Given the description of an element on the screen output the (x, y) to click on. 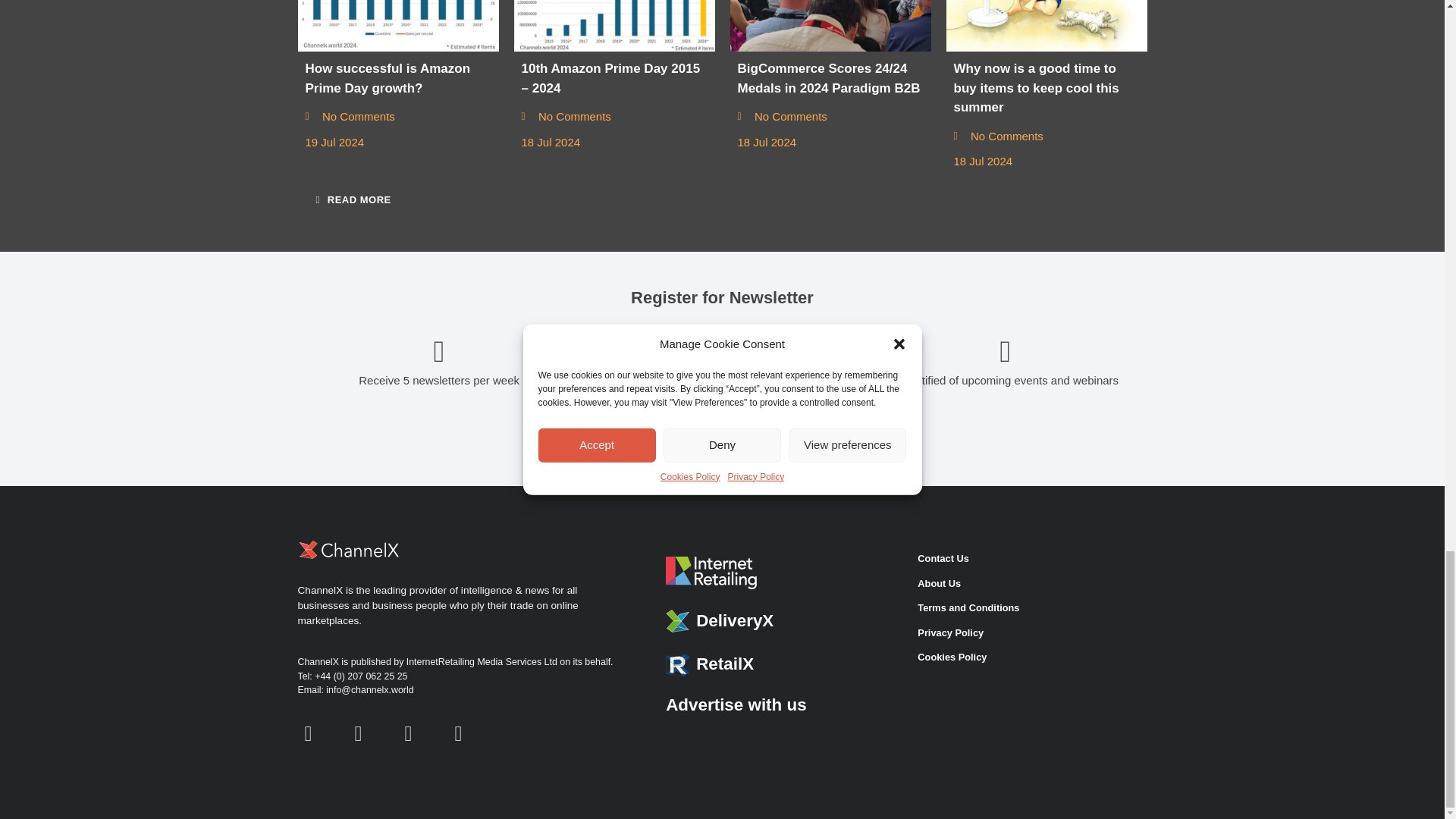
BigCommerce Scores 24 out of 24 Medals in 2024 Paradigm B2B (829, 25)
How successful is Amazon Prime Day growth (397, 25)
Why now is a good time to buy items to keep cool this summer (1046, 25)
